Given the description of an element on the screen output the (x, y) to click on. 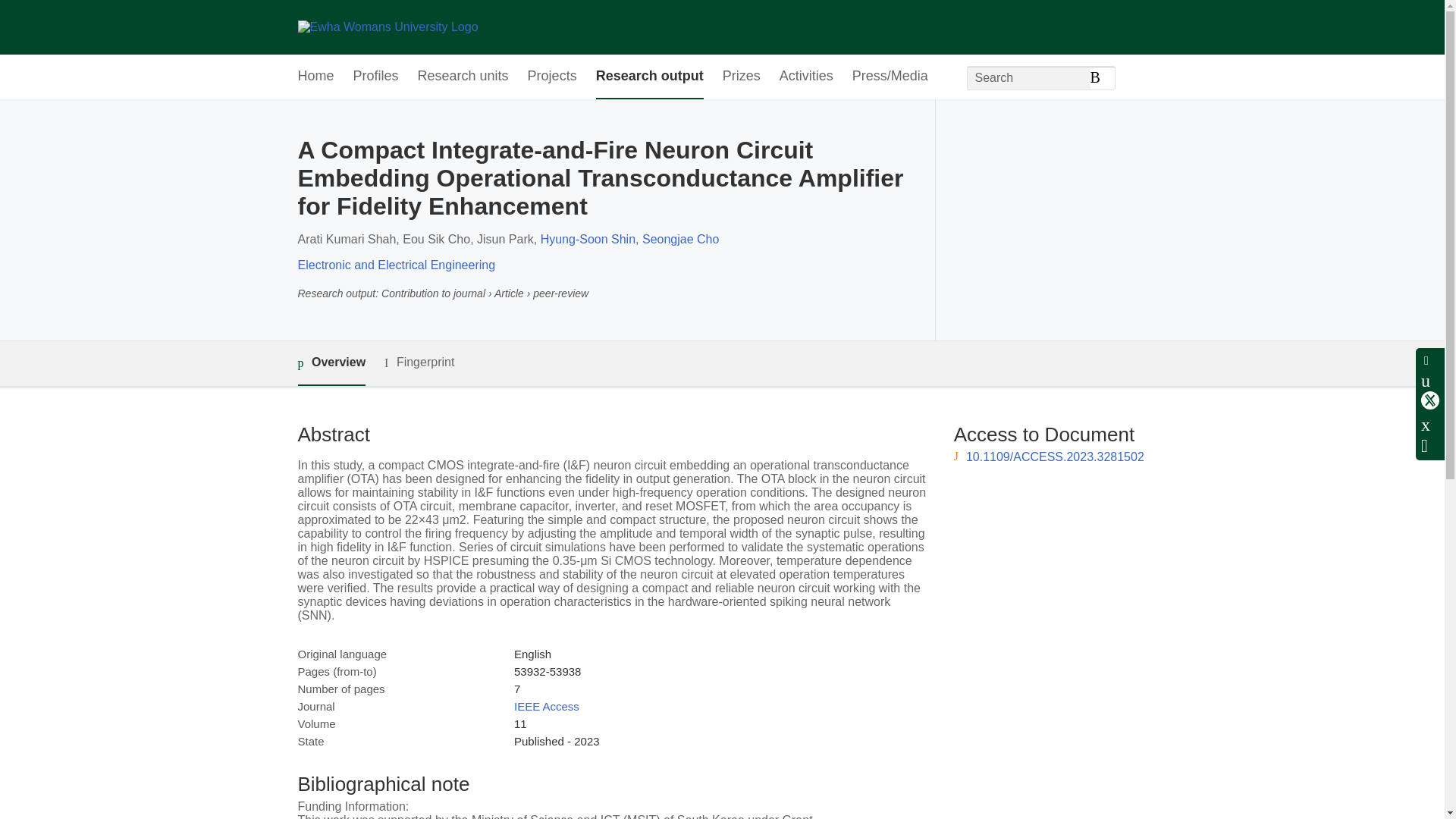
Ewha Womans University Home (387, 27)
Overview (331, 363)
Activities (805, 76)
Research units (462, 76)
Research output (649, 76)
Fingerprint (419, 362)
Seongjae Cho (680, 238)
Electronic and Electrical Engineering (396, 264)
Projects (551, 76)
IEEE Access (546, 706)
Profiles (375, 76)
Hyung-Soon Shin (587, 238)
